Given the description of an element on the screen output the (x, y) to click on. 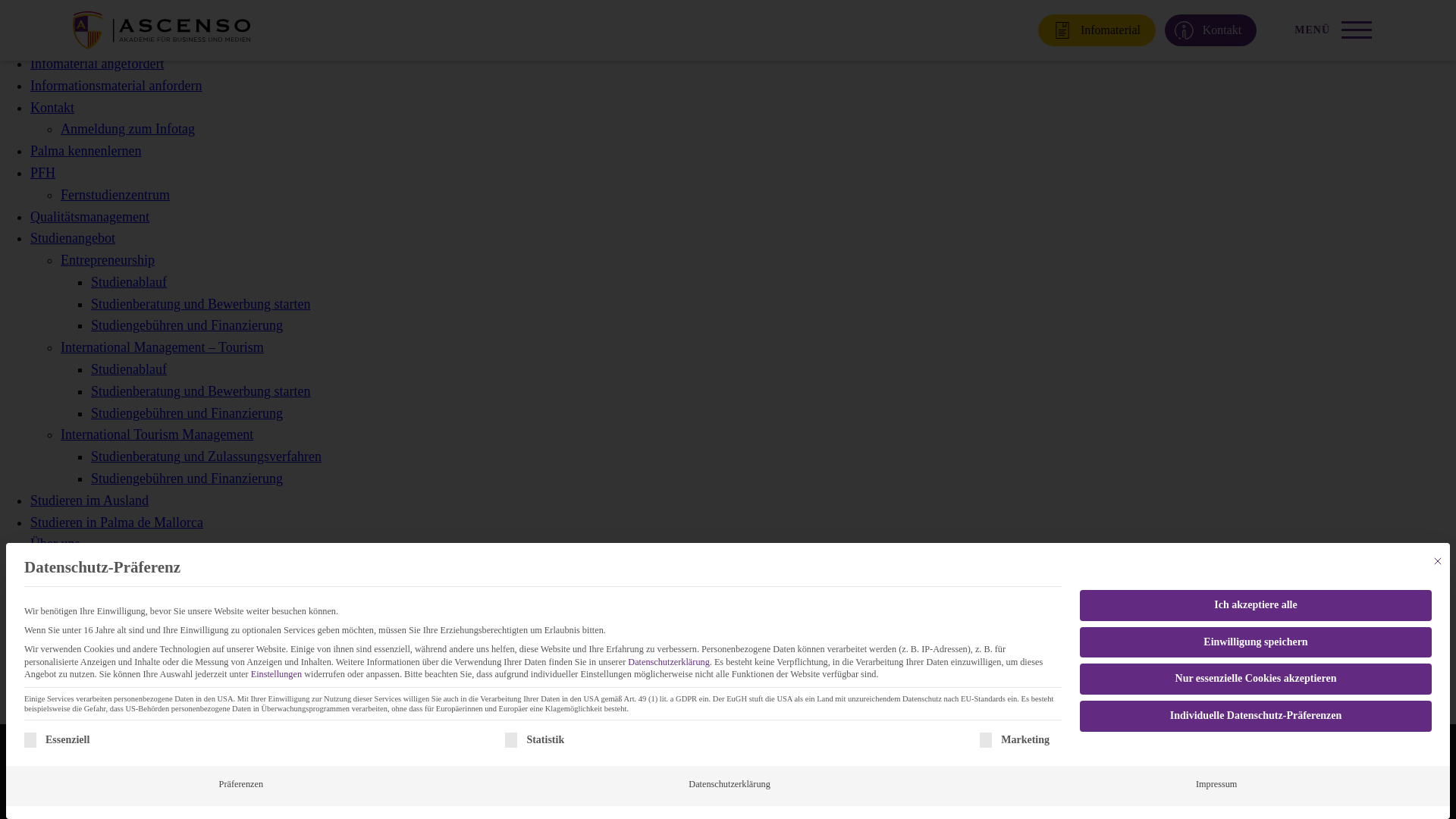
on (510, 10)
on (985, 10)
on (30, 10)
